Given the description of an element on the screen output the (x, y) to click on. 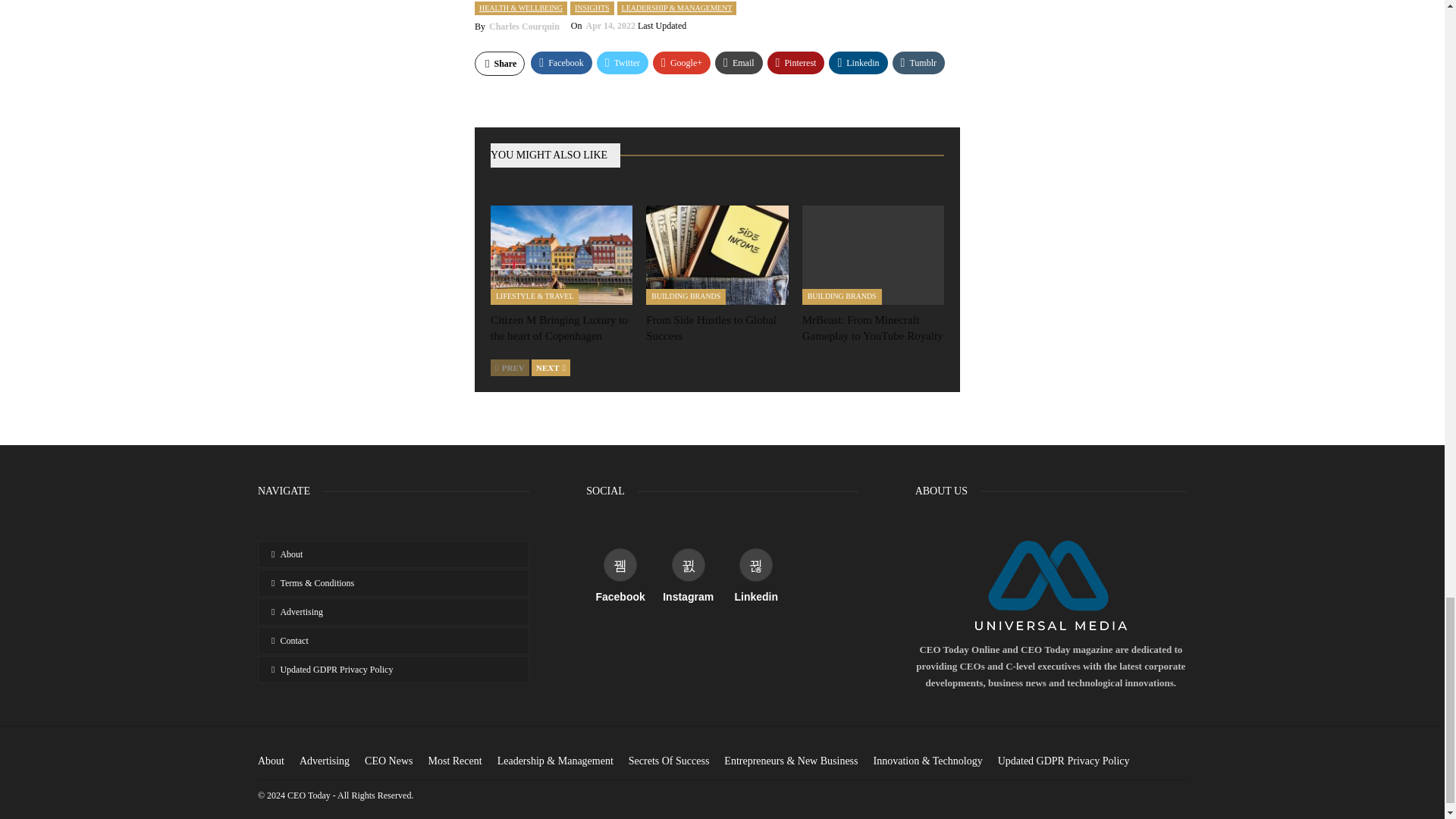
Previous (509, 367)
MrBeast: From Minecraft Gameplay to YouTube Royalty (872, 254)
Next (550, 367)
Citizen M Bringing Luxury to the heart of Copenhagen (558, 327)
MrBeast: From Minecraft Gameplay to YouTube Royalty (872, 327)
From Side Hustles to Global Success (716, 254)
Citizen M Bringing Luxury to the heart of Copenhagen (560, 254)
From Side Hustles to Global Success (711, 327)
